Given the description of an element on the screen output the (x, y) to click on. 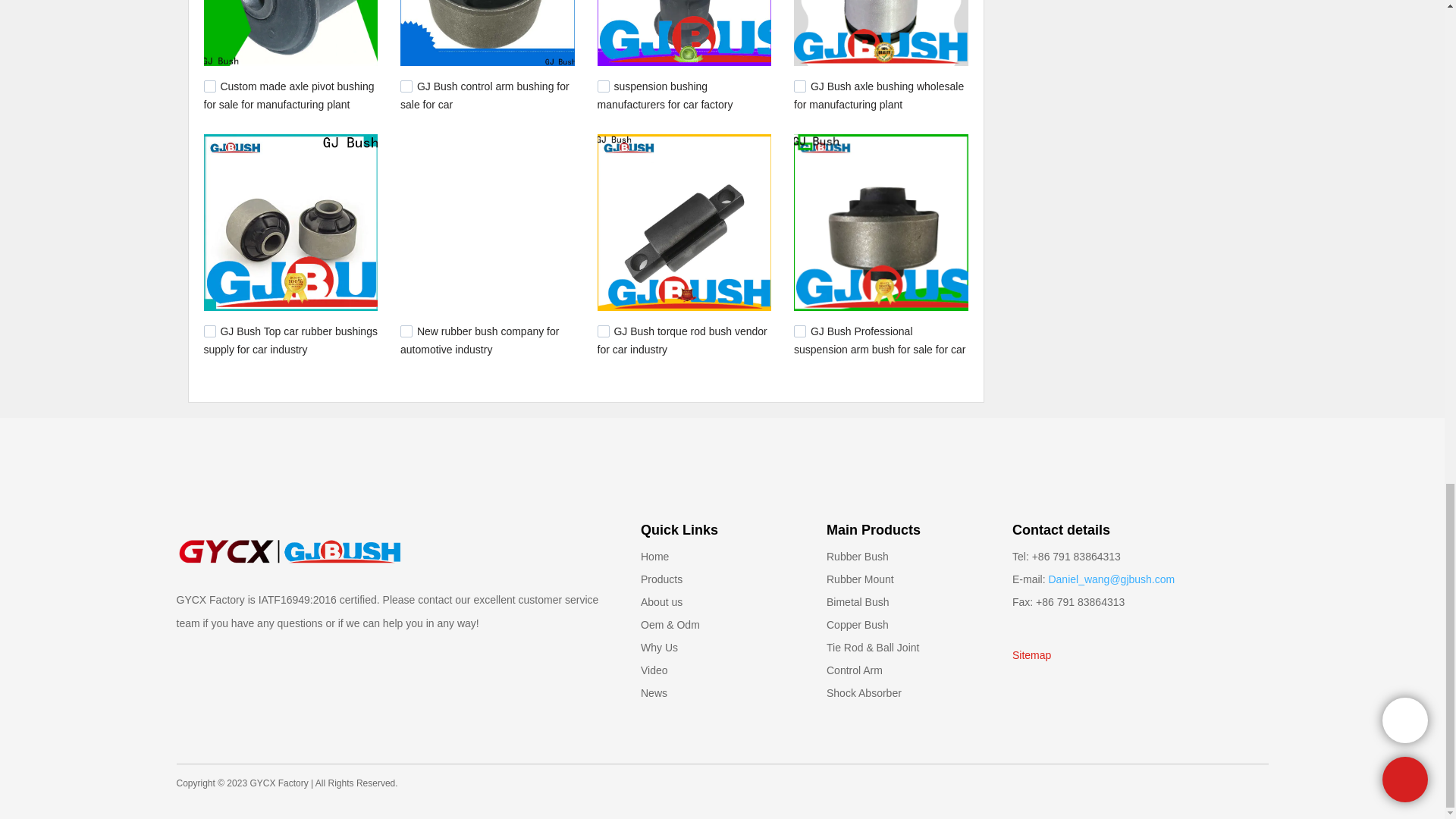
GJ Bush control arm bushing for sale for car (484, 95)
792 (799, 86)
GJ Bush Top car rubber bushings supply for car industry (290, 340)
GJ Bush torque rod bush vendor for car industry (681, 340)
592 (406, 331)
suspension bushing manufacturers for car factory (664, 95)
810 (603, 86)
530 (799, 331)
GJ Bush axle bushing wholesale for manufacturing plant (878, 95)
